Given the description of an element on the screen output the (x, y) to click on. 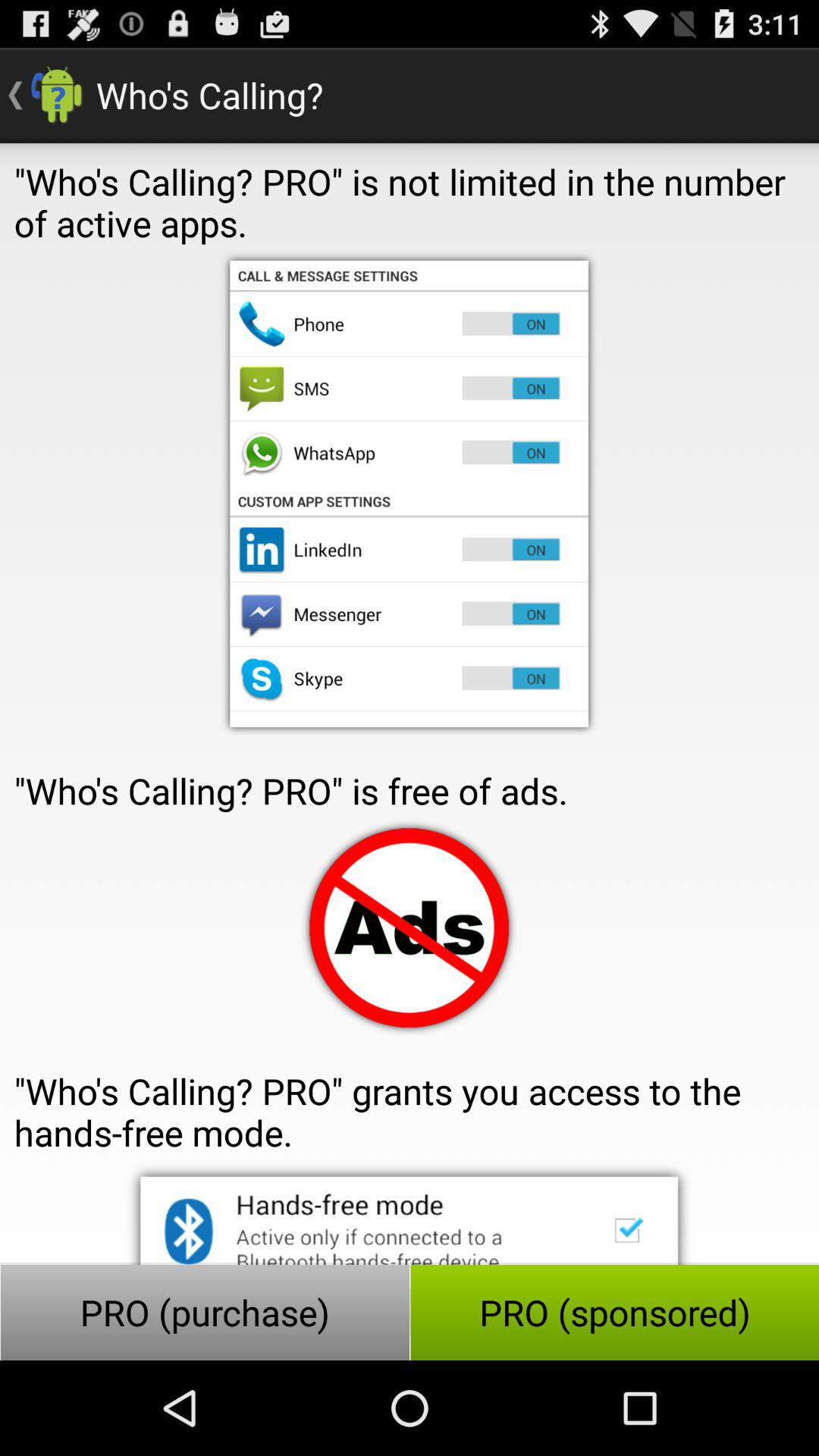
turn off pro (purchase) (204, 1312)
